Given the description of an element on the screen output the (x, y) to click on. 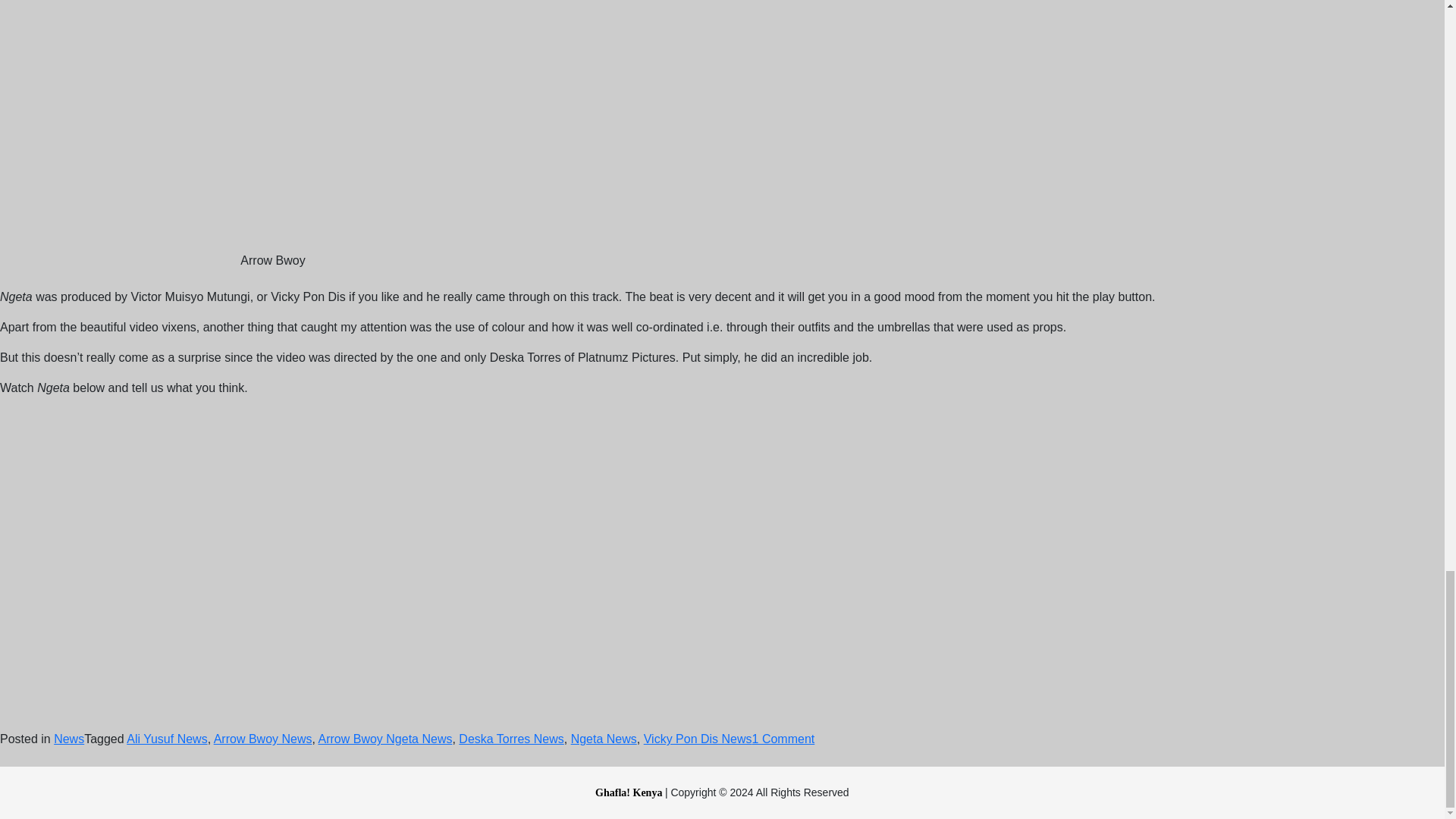
Ali Yusuf News (166, 738)
Deska Torres News (510, 738)
Vicky Pon Dis News (697, 738)
Arrow Bwoy News (263, 738)
News (68, 738)
Arrow Bwoy Ngeta News (385, 738)
Ngeta News (603, 738)
Ghafla! Kenya (630, 792)
